Given the description of an element on the screen output the (x, y) to click on. 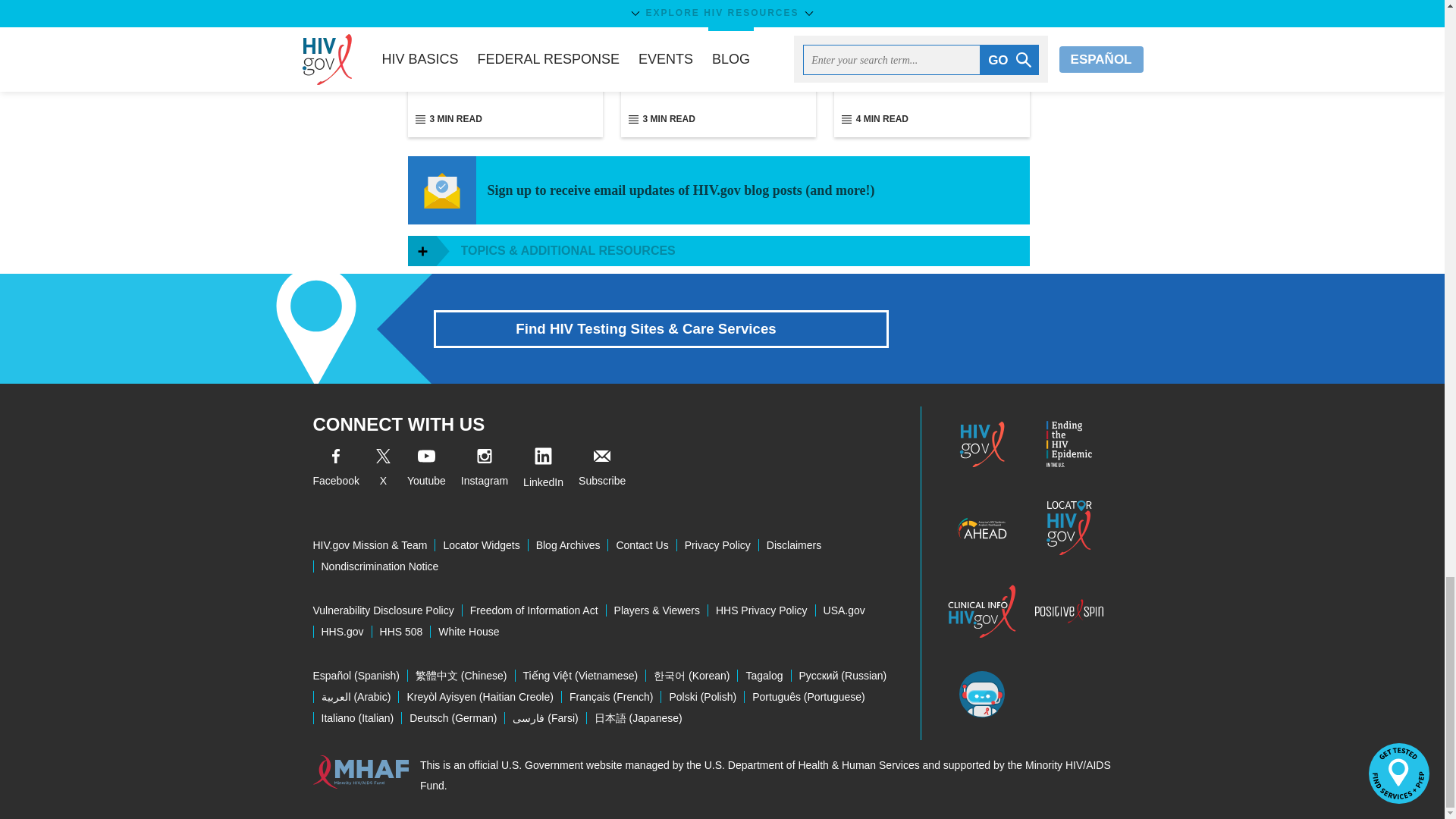
Visit HIV.gov on Facebook (335, 470)
Visit HIV.gov on Instagram (484, 470)
Visit to subscribe to HIV.gov email updates (602, 470)
